Given the description of an element on the screen output the (x, y) to click on. 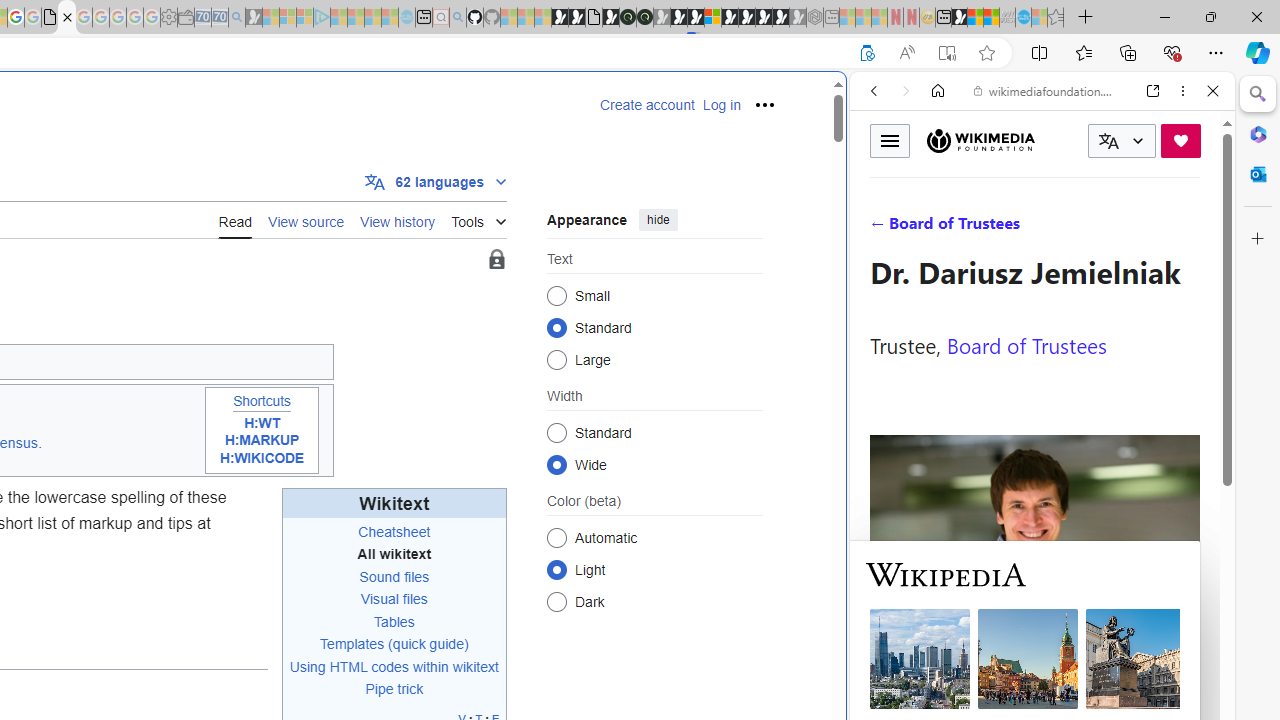
Wallet - Sleeping (185, 17)
WEB   (882, 228)
Class: mw-list-item mw-list-item-js (654, 569)
Microsoft Start Gaming - Sleeping (253, 17)
Page semi-protected (496, 259)
Preferences (1189, 228)
Play Zoo Boom in your browser | Games from Microsoft Start (576, 17)
Using HTML codes within wikitext (394, 666)
Play Cave FRVR in your browser | Games from Microsoft Start (343, 426)
Shortcuts (261, 401)
H:WIKICODE (262, 458)
